Given the description of an element on the screen output the (x, y) to click on. 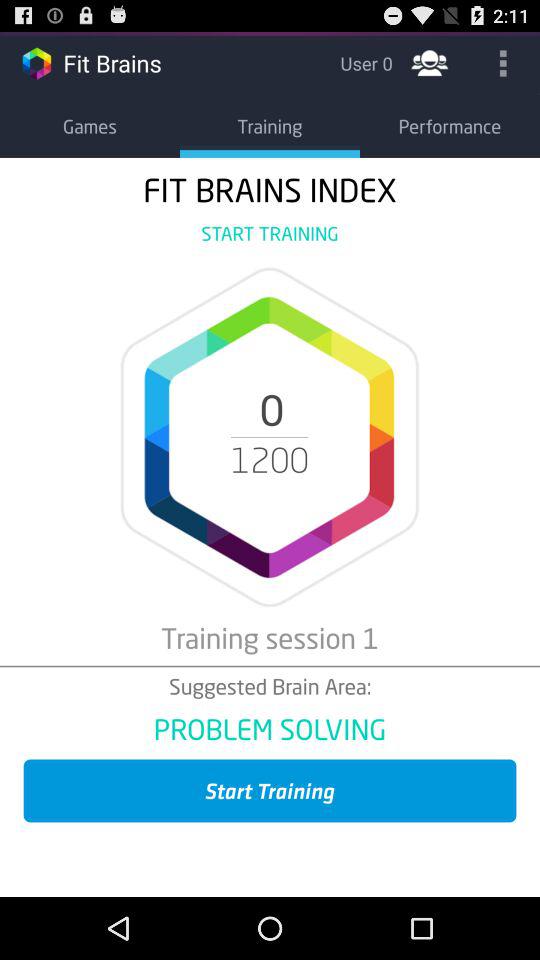
choose the app to the right of the user 0 item (429, 62)
